Given the description of an element on the screen output the (x, y) to click on. 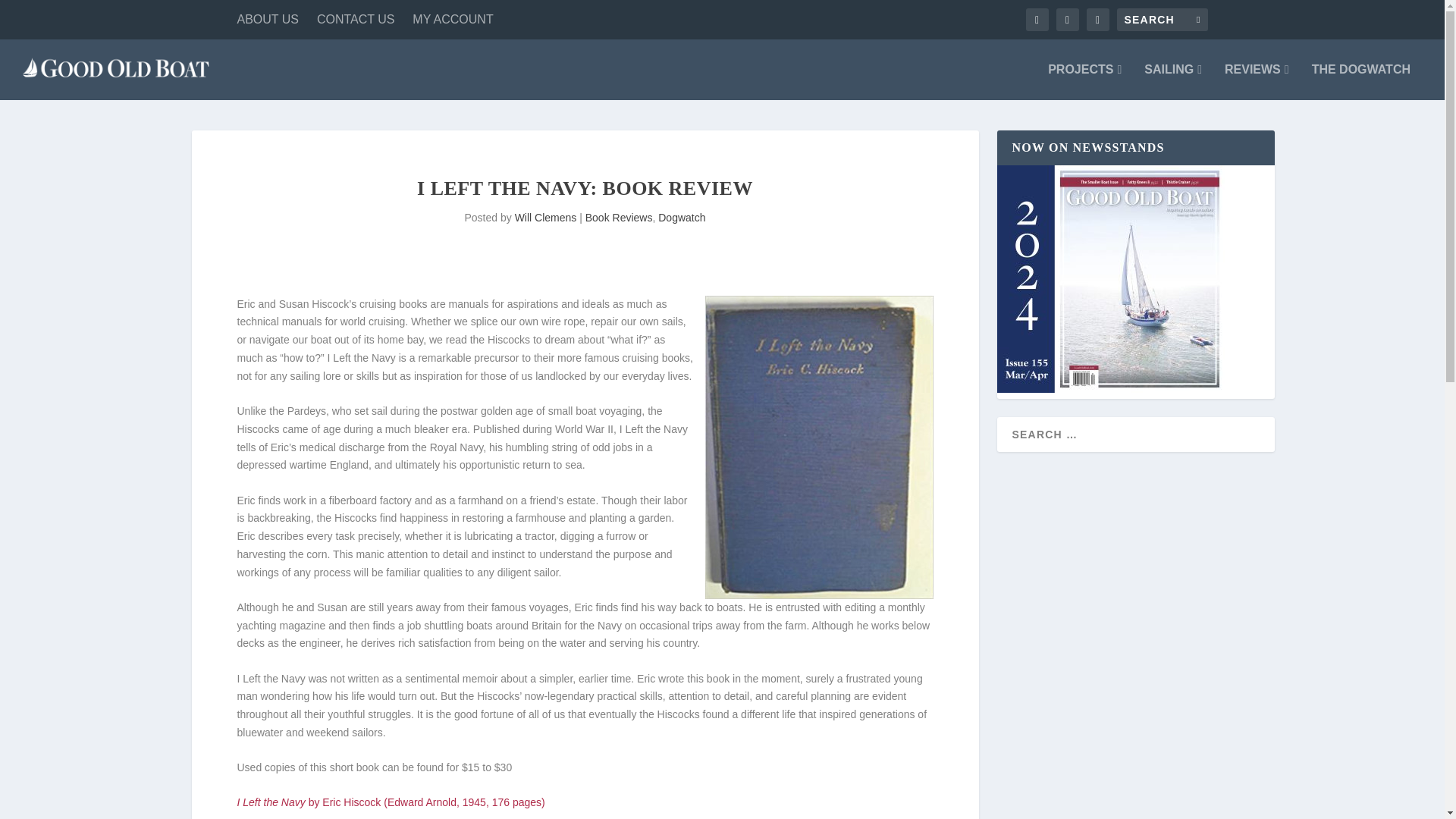
MY ACCOUNT (452, 19)
CONTACT US (355, 19)
PROJECTS (1084, 81)
Search for: (1161, 19)
THE DOGWATCH (1360, 81)
SAILING (1173, 81)
REVIEWS (1256, 81)
ABOUT US (266, 19)
Posts by Will Clemens (545, 217)
